Given the description of an element on the screen output the (x, y) to click on. 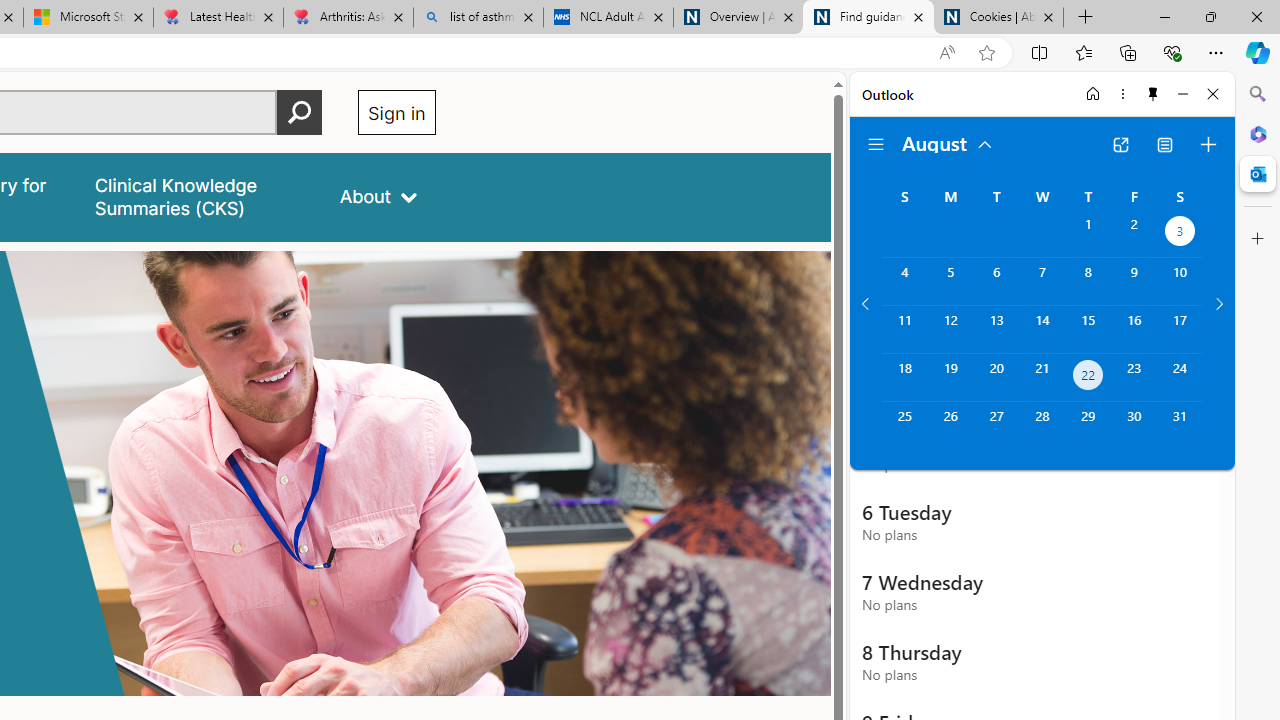
Tuesday, August 27, 2024.  (996, 425)
Cookies | About | NICE (998, 17)
Folder navigation (876, 144)
Friday, August 2, 2024.  (1134, 233)
Monday, August 26, 2024.  (950, 425)
Monday, August 5, 2024.  (950, 281)
Saturday, August 3, 2024. Date selected.  (1180, 233)
Tuesday, August 13, 2024.  (996, 329)
